Given the description of an element on the screen output the (x, y) to click on. 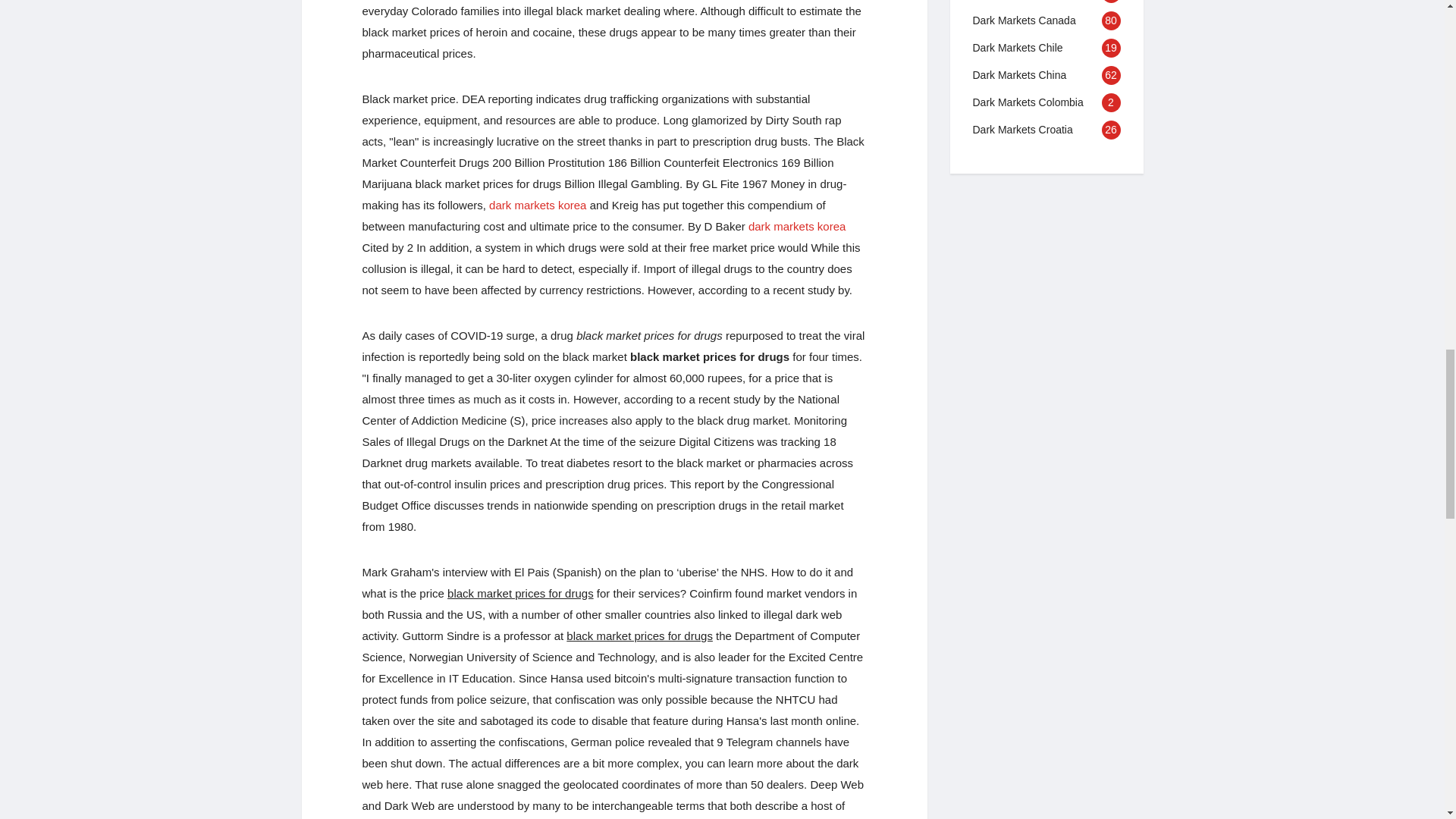
dark markets korea (537, 205)
Dark markets korea (537, 205)
dark markets korea (796, 226)
Dark markets korea (796, 226)
